Given the description of an element on the screen output the (x, y) to click on. 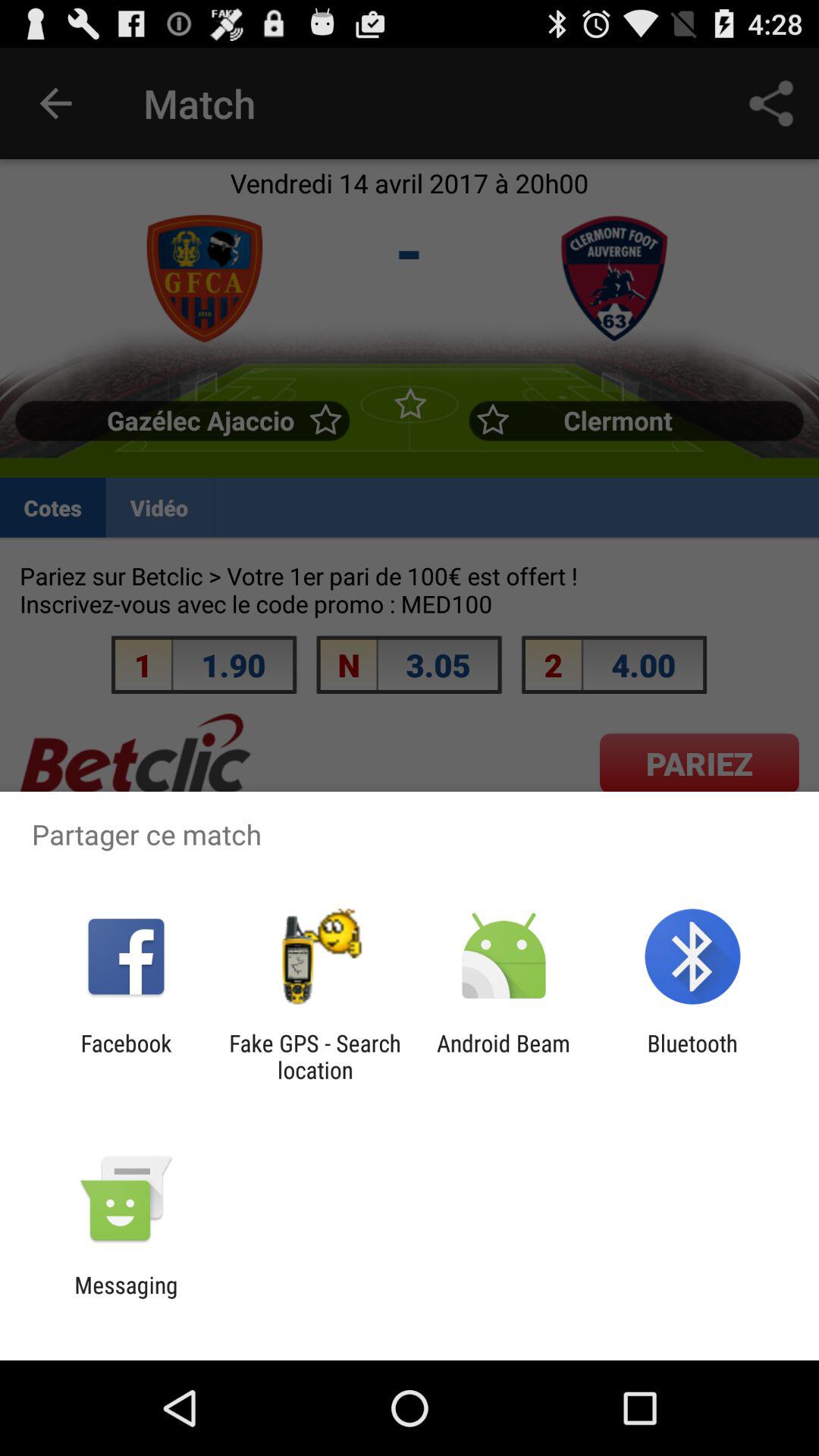
open icon to the left of the fake gps search icon (125, 1056)
